Given the description of an element on the screen output the (x, y) to click on. 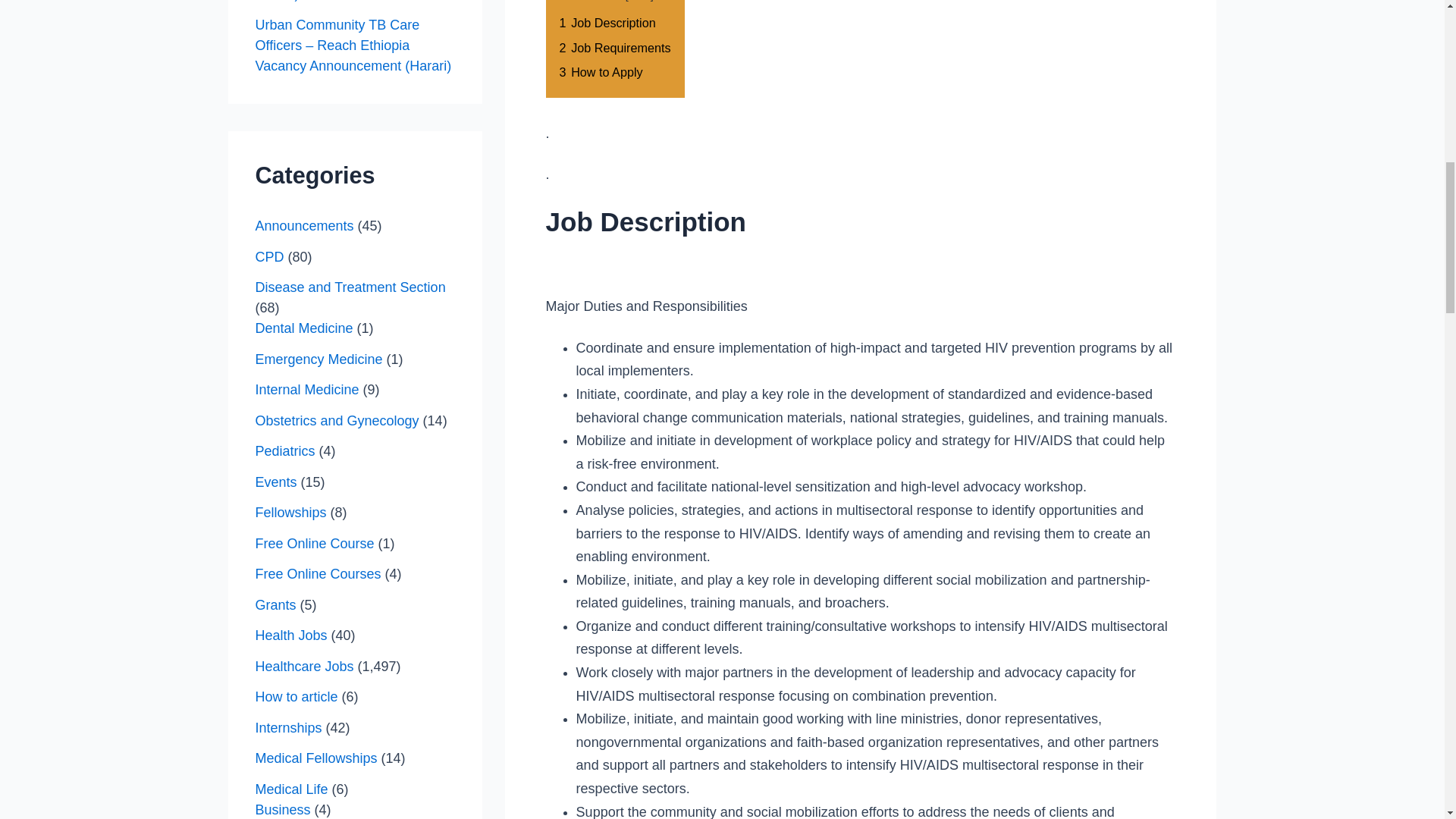
How to article (295, 696)
Free Online Course (314, 543)
Obstetrics and Gynecology (336, 420)
Disease and Treatment Section (349, 287)
Free Online Courses (317, 573)
Internal Medicine (306, 389)
Pediatrics (284, 450)
Fellowships (290, 512)
CPD (268, 256)
Healthcare Jobs (303, 666)
Events (275, 482)
Health Jobs (290, 635)
Dental Medicine (303, 328)
Emergency Medicine (317, 359)
Grants (274, 604)
